Given the description of an element on the screen output the (x, y) to click on. 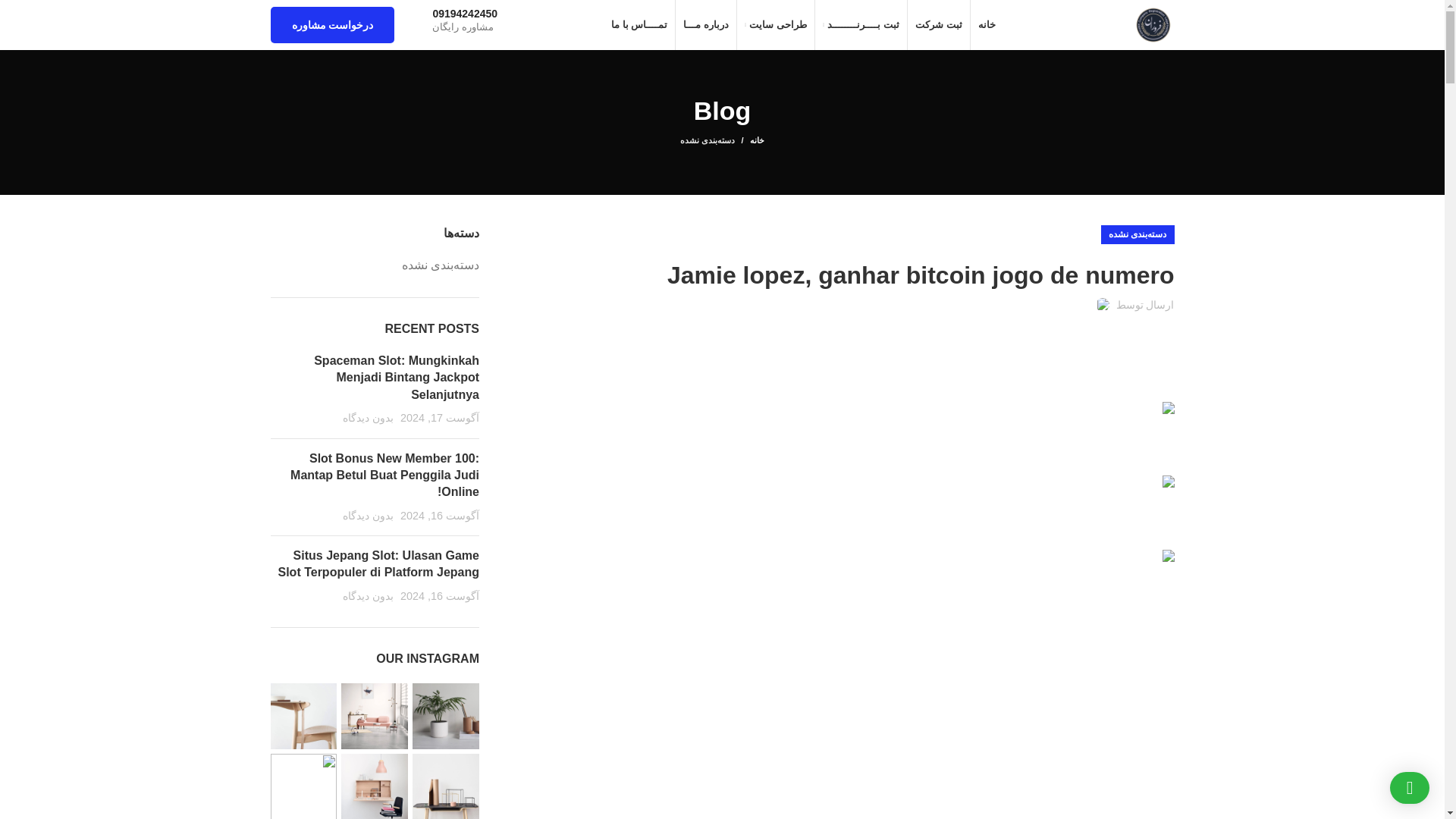
Jamie lopez (1132, 412)
Jamie lopez (1136, 337)
Jamie lopez (1132, 559)
Jamie lopez (1132, 485)
